Given the description of an element on the screen output the (x, y) to click on. 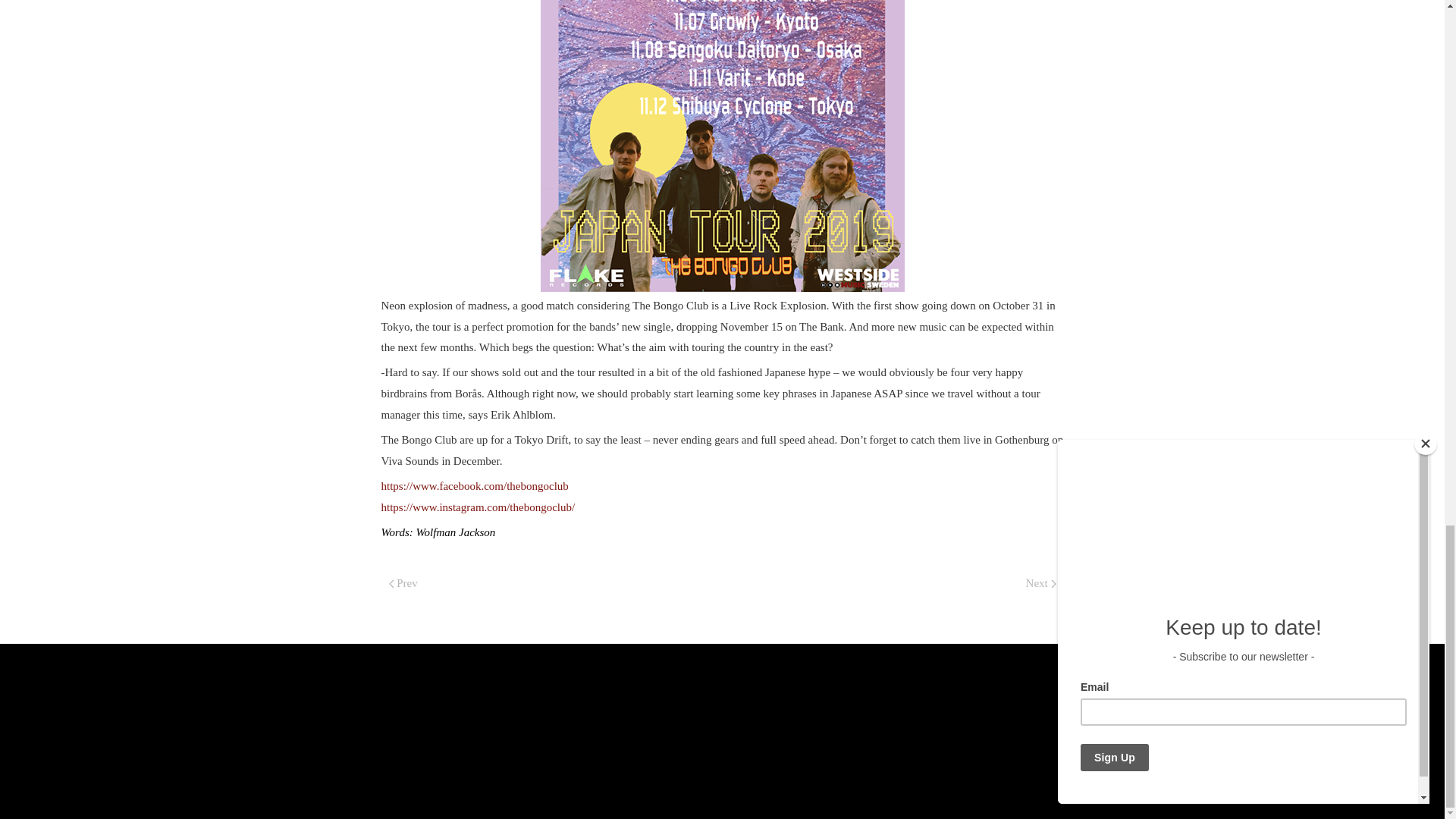
Next (1040, 583)
Prev (402, 583)
